Given the description of an element on the screen output the (x, y) to click on. 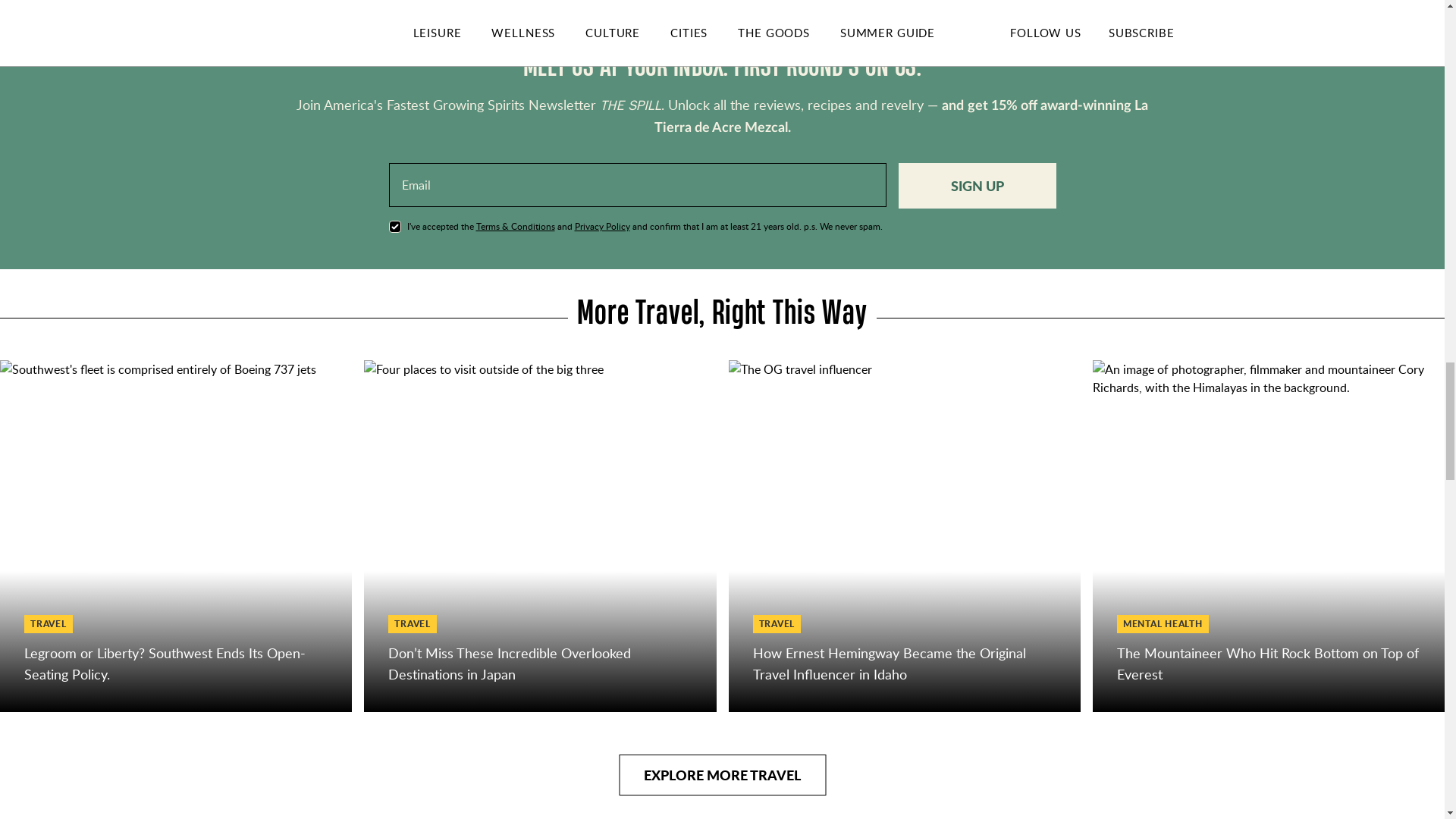
on (394, 225)
